Given the description of an element on the screen output the (x, y) to click on. 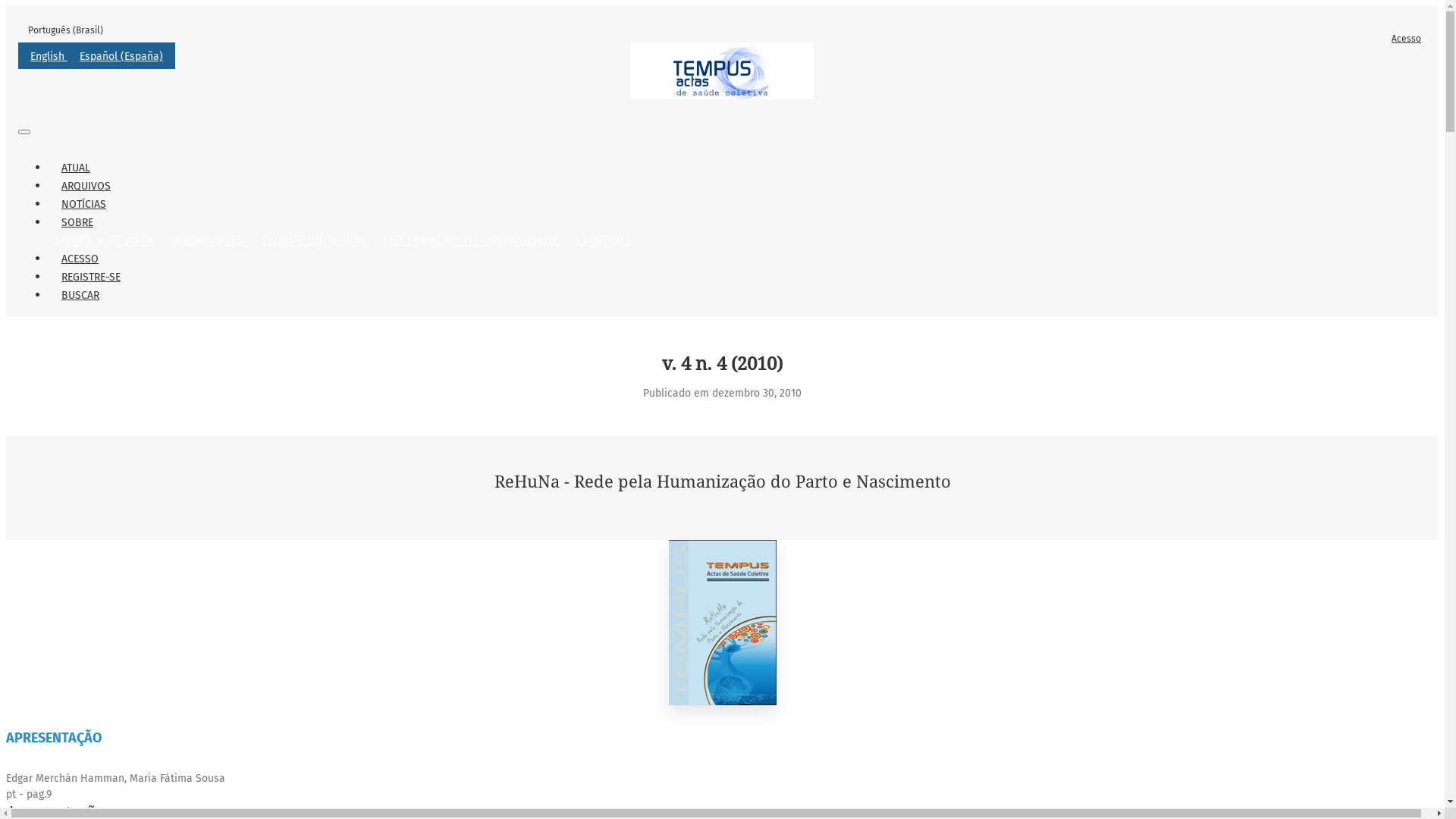
SOBRE A REVISTA Element type: text (106, 240)
BUSCAR Element type: text (80, 295)
EQUIPE EDITORIAL Element type: text (315, 240)
ATUAL Element type: text (75, 167)
REGISTRE-SE Element type: text (90, 276)
SOBRE Element type: text (77, 222)
Acesso Element type: text (1406, 38)
ACESSO Element type: text (79, 258)
English Element type: text (48, 56)
ARQUIVOS Element type: text (85, 185)
CONTATO Element type: text (603, 240)
